Given the description of an element on the screen output the (x, y) to click on. 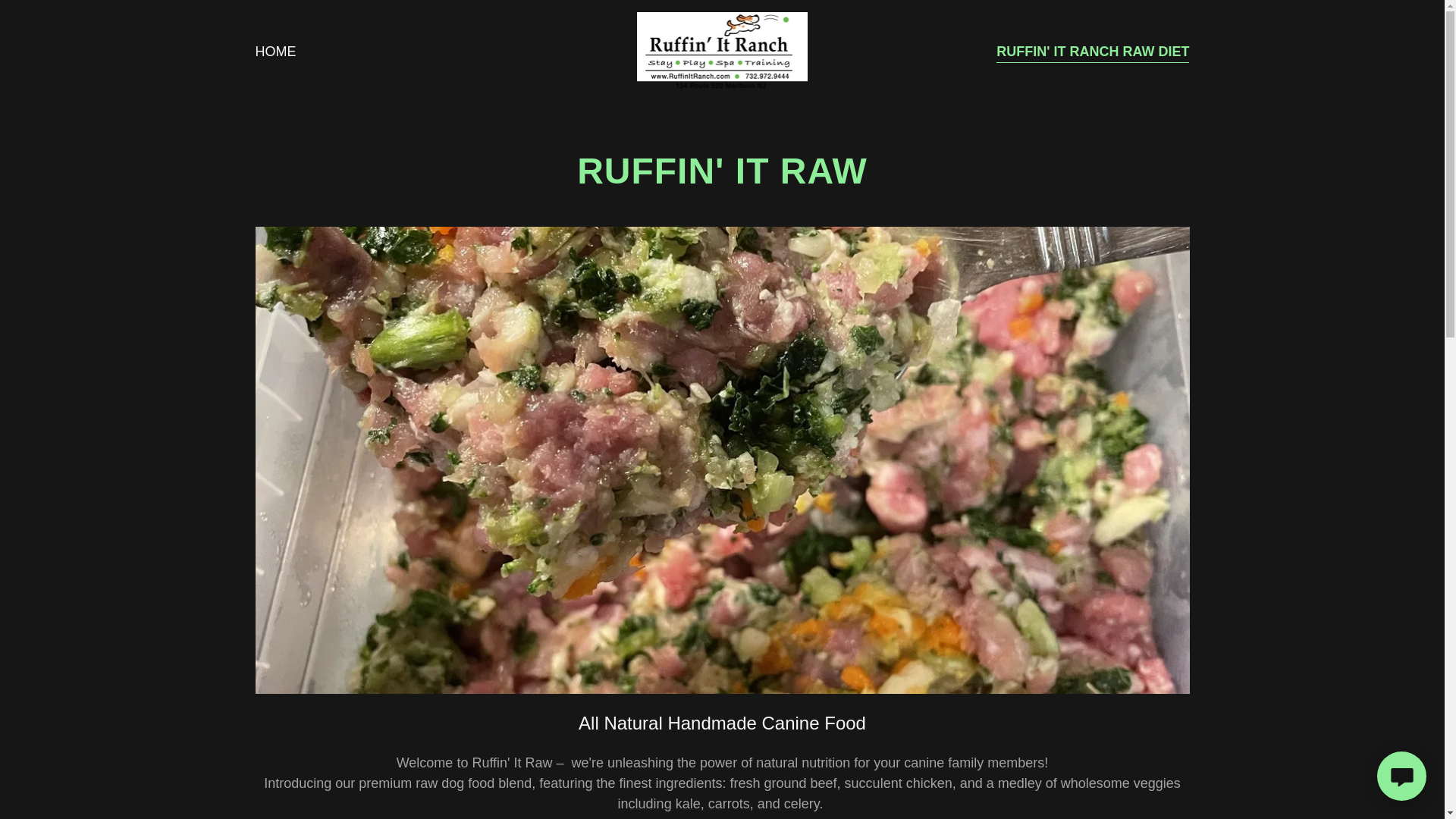
RUFFIN' IT RANCH RAW DIET (1092, 52)
520Kennels (722, 50)
HOME (274, 51)
